Given the description of an element on the screen output the (x, y) to click on. 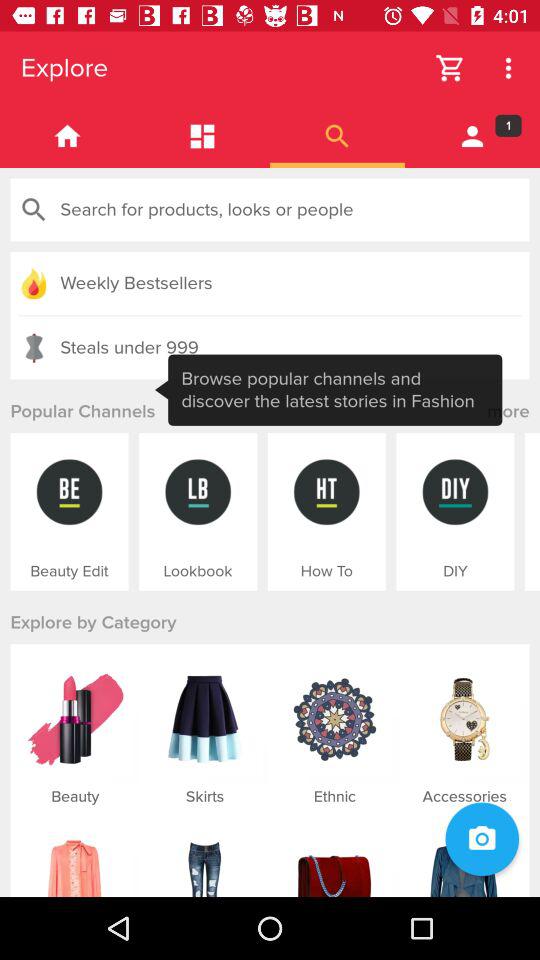
search products (269, 209)
